Given the description of an element on the screen output the (x, y) to click on. 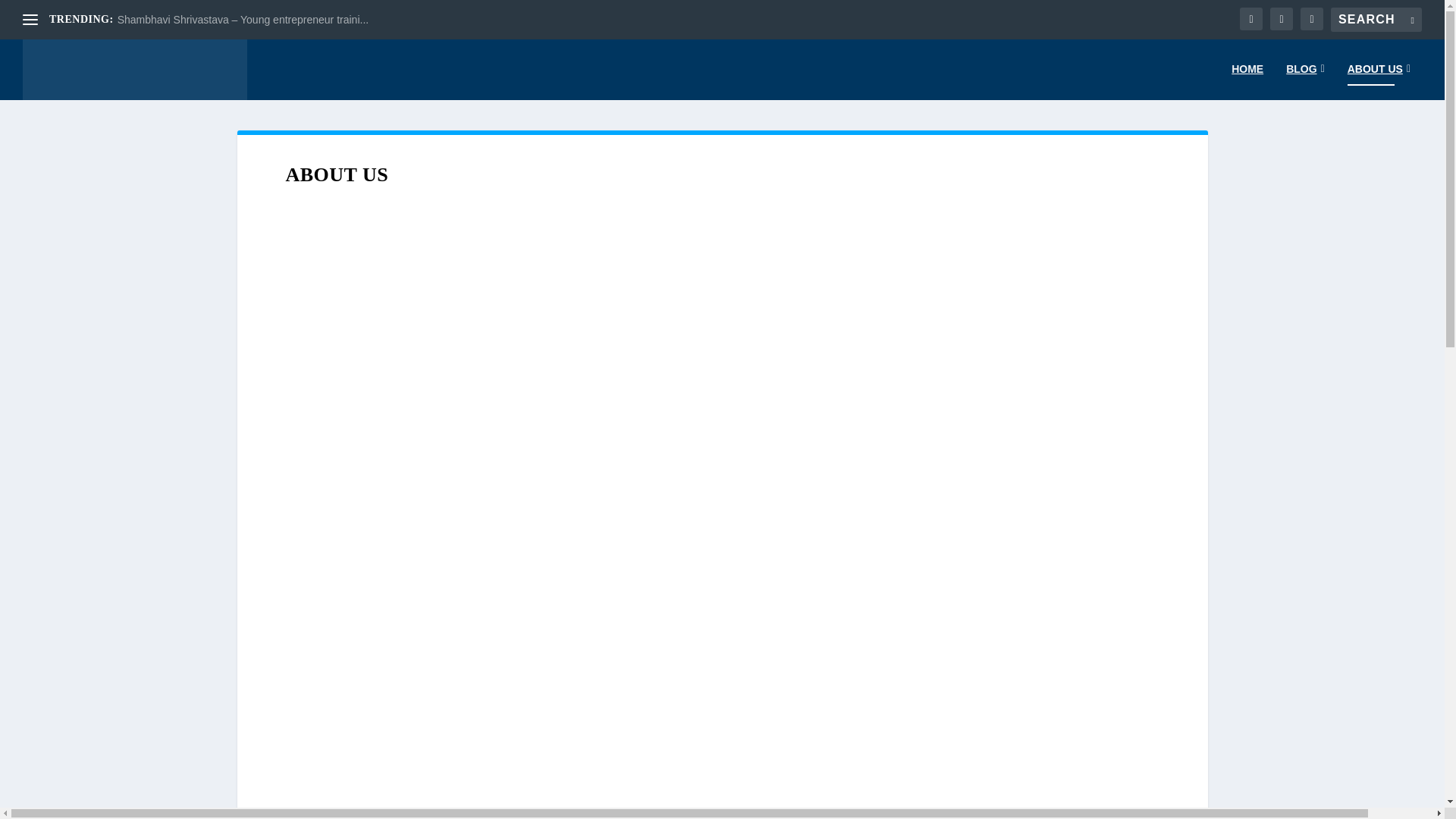
ABOUT US (1379, 81)
BLOG (1304, 81)
Search for: (1376, 19)
